Given the description of an element on the screen output the (x, y) to click on. 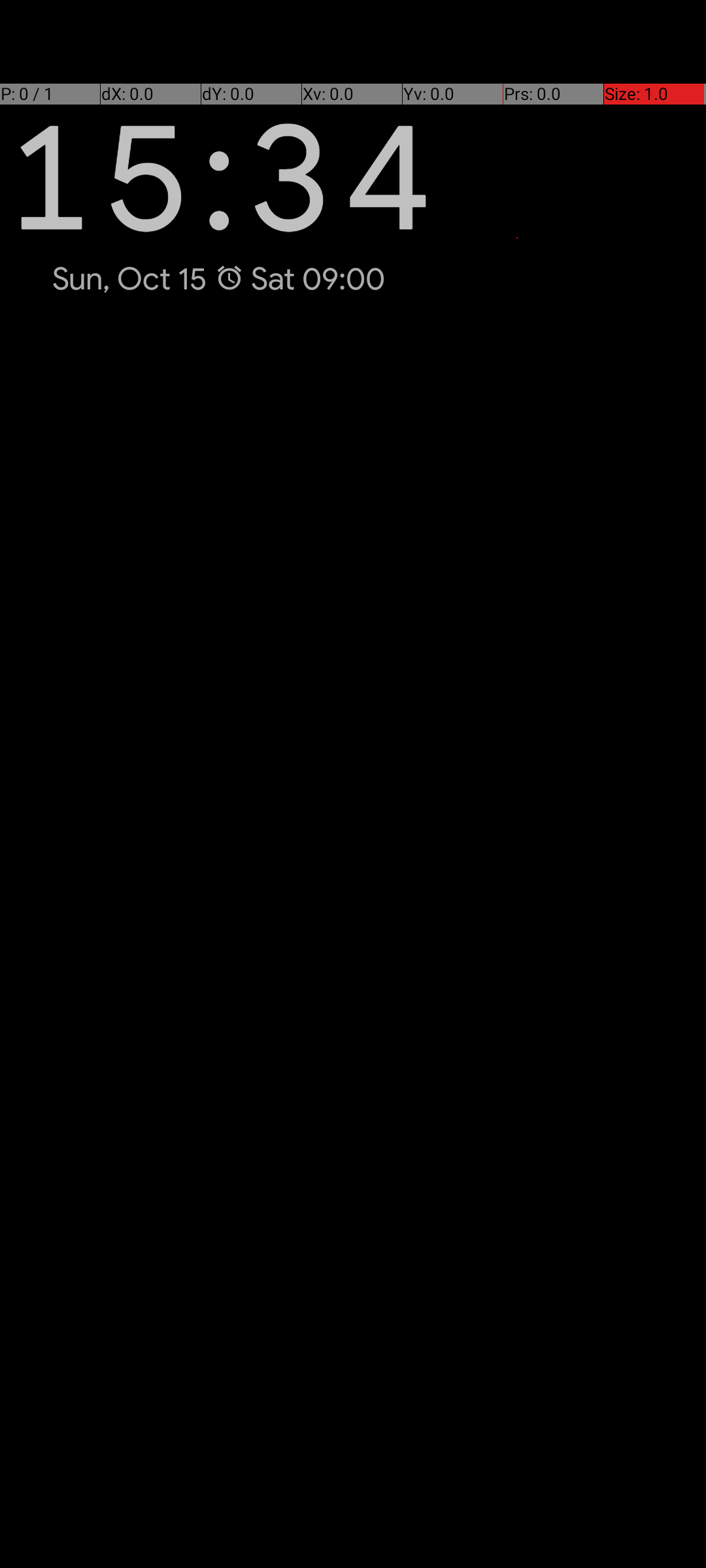
Sun, Oct 15 A Sat 09:00 Element type: android.widget.TextView (218, 278)
